Given the description of an element on the screen output the (x, y) to click on. 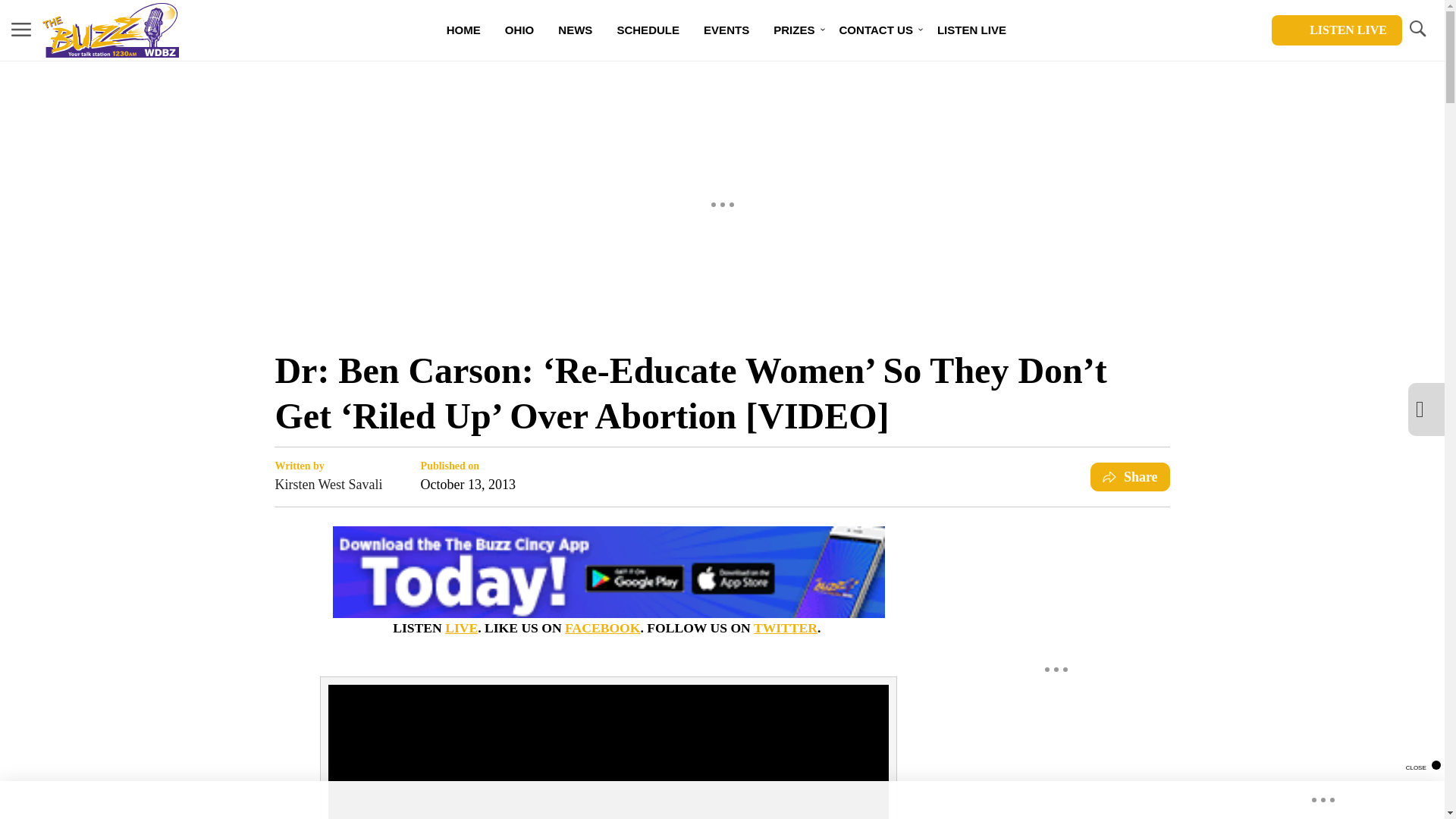
MENU (20, 29)
HOME (463, 30)
TWITTER (785, 627)
LISTEN LIVE (1336, 30)
SCHEDULE (647, 30)
NEWS (575, 30)
LISTEN LIVE (970, 30)
Share (1130, 476)
TOGGLE SEARCH (1417, 30)
CONTACT US (875, 30)
EVENTS (726, 30)
FACEBOOK (602, 627)
PRIZES (794, 30)
Kirsten West Savali (328, 484)
OHIO (519, 30)
